Given the description of an element on the screen output the (x, y) to click on. 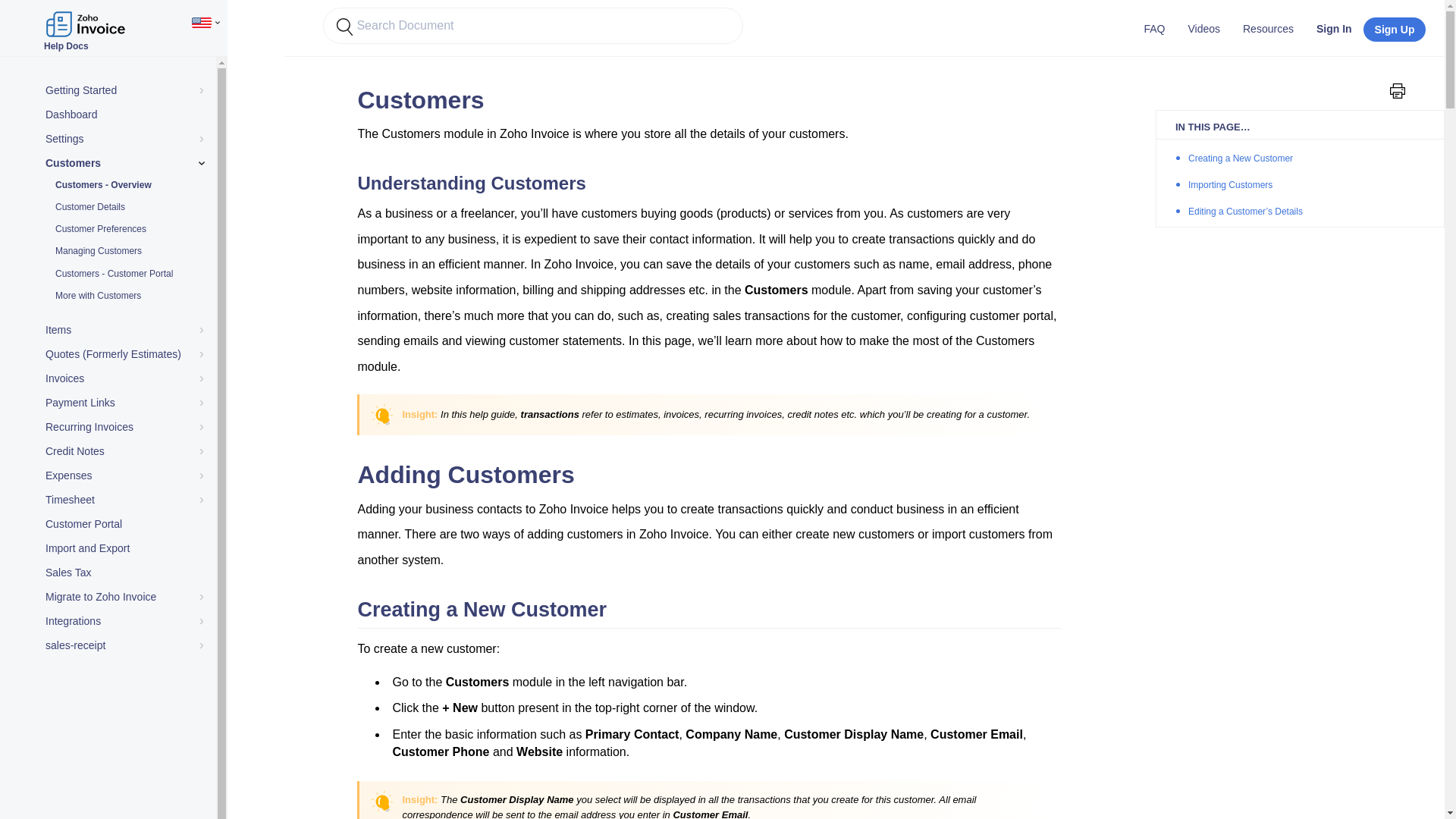
Customers - Overview (123, 185)
Customer Details (123, 207)
More with Customers (123, 295)
Help Docs (85, 18)
Sign Up (1394, 29)
Videos (1203, 28)
Sign In (1333, 28)
Customers - Customer Portal (123, 273)
Managing Customers (123, 250)
Getting Started (123, 90)
Customer Preferences (123, 229)
FAQ (1154, 28)
Print this page (1397, 90)
Items (123, 330)
Settings (123, 138)
